Given the description of an element on the screen output the (x, y) to click on. 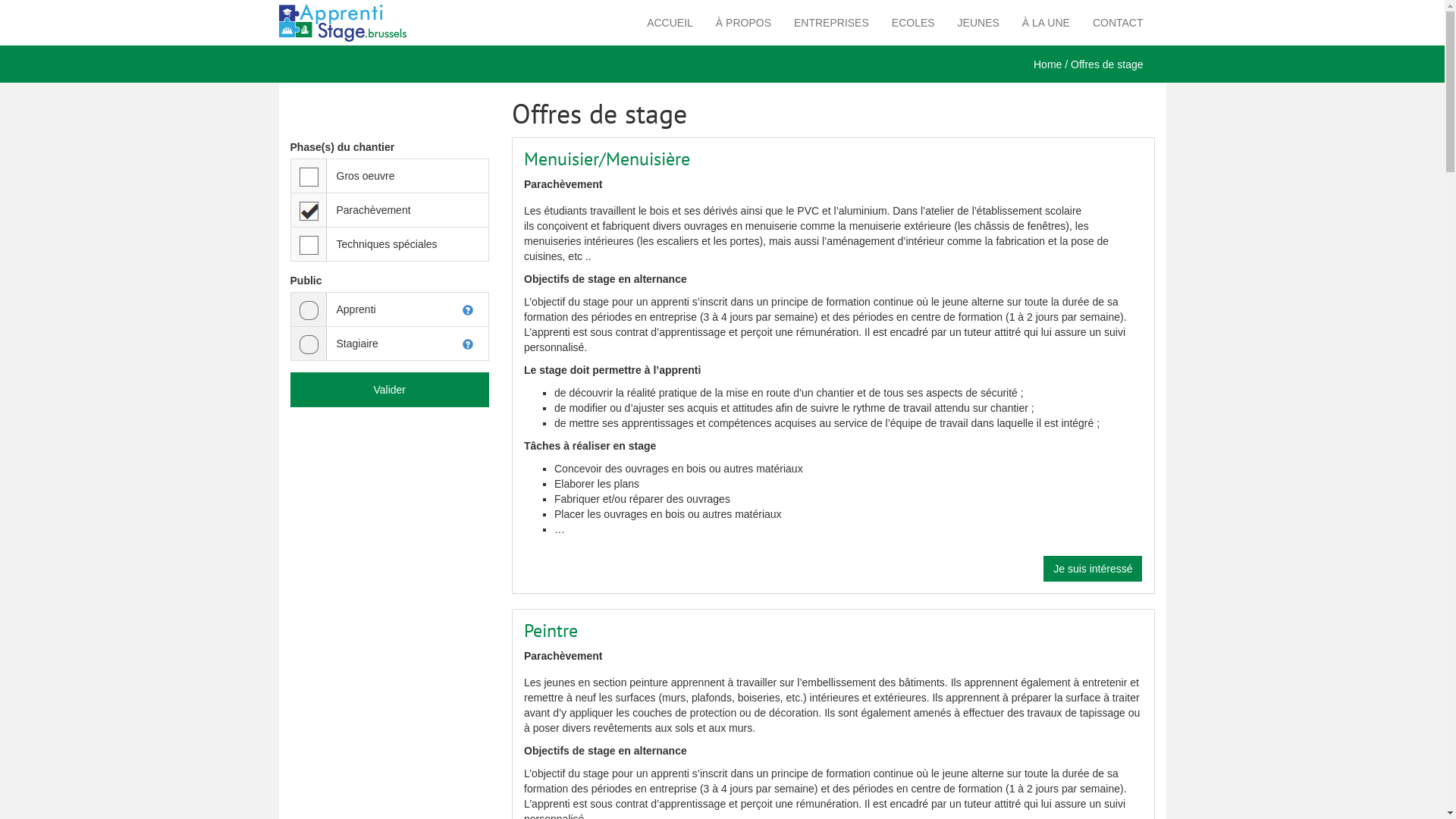
Valider Element type: text (389, 389)
Home Element type: text (1047, 64)
JEUNES Element type: text (978, 22)
ApprentiStage.brussels Element type: text (354, 20)
ENTREPRISES Element type: text (831, 22)
CONTACT Element type: text (1117, 22)
ECOLES Element type: text (913, 22)
ACCUEIL Element type: text (669, 22)
